Given the description of an element on the screen output the (x, y) to click on. 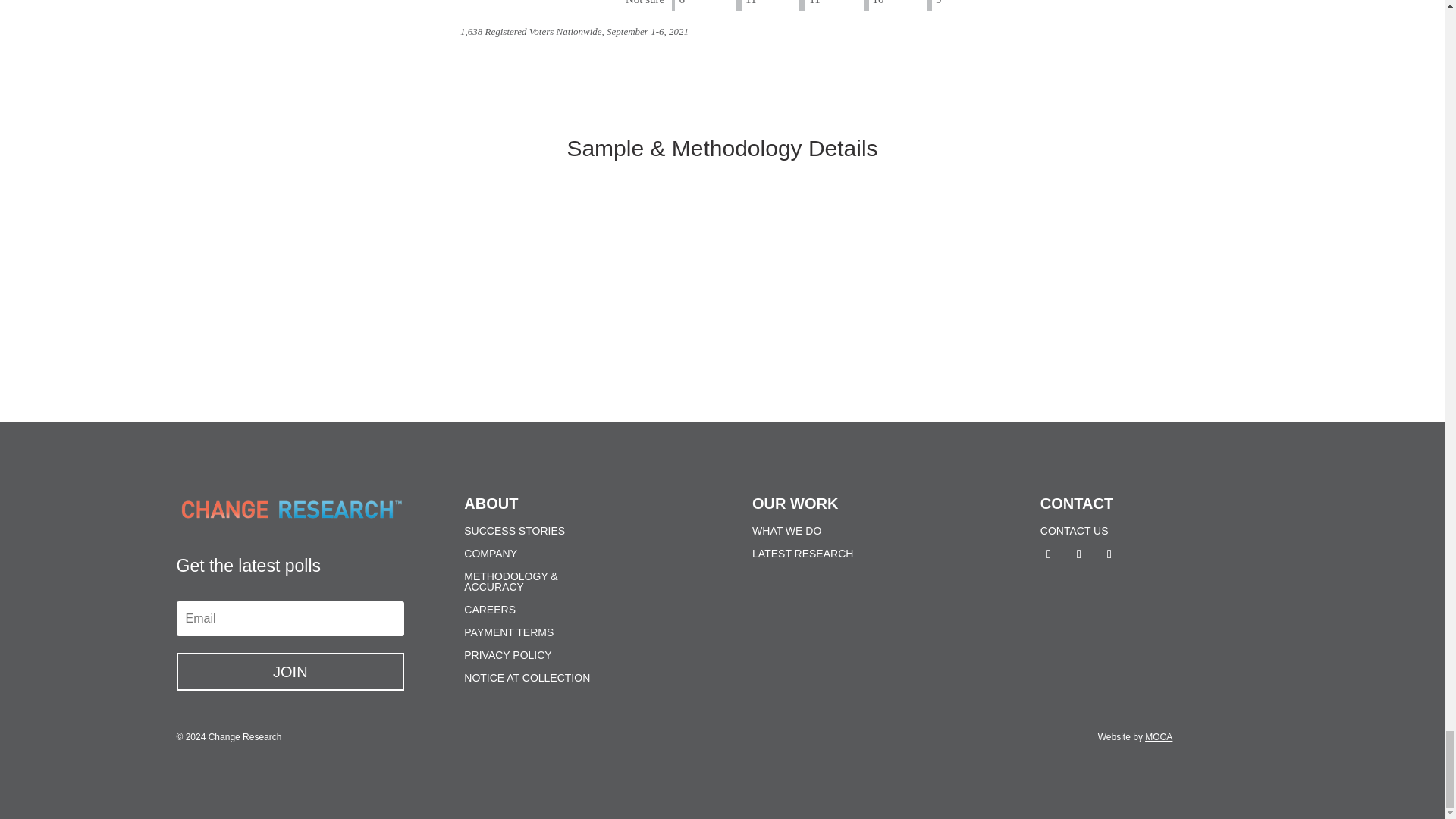
Follow on LinkedIn (1078, 554)
Follow on Facebook (1109, 554)
Follow on X (1048, 554)
